Given the description of an element on the screen output the (x, y) to click on. 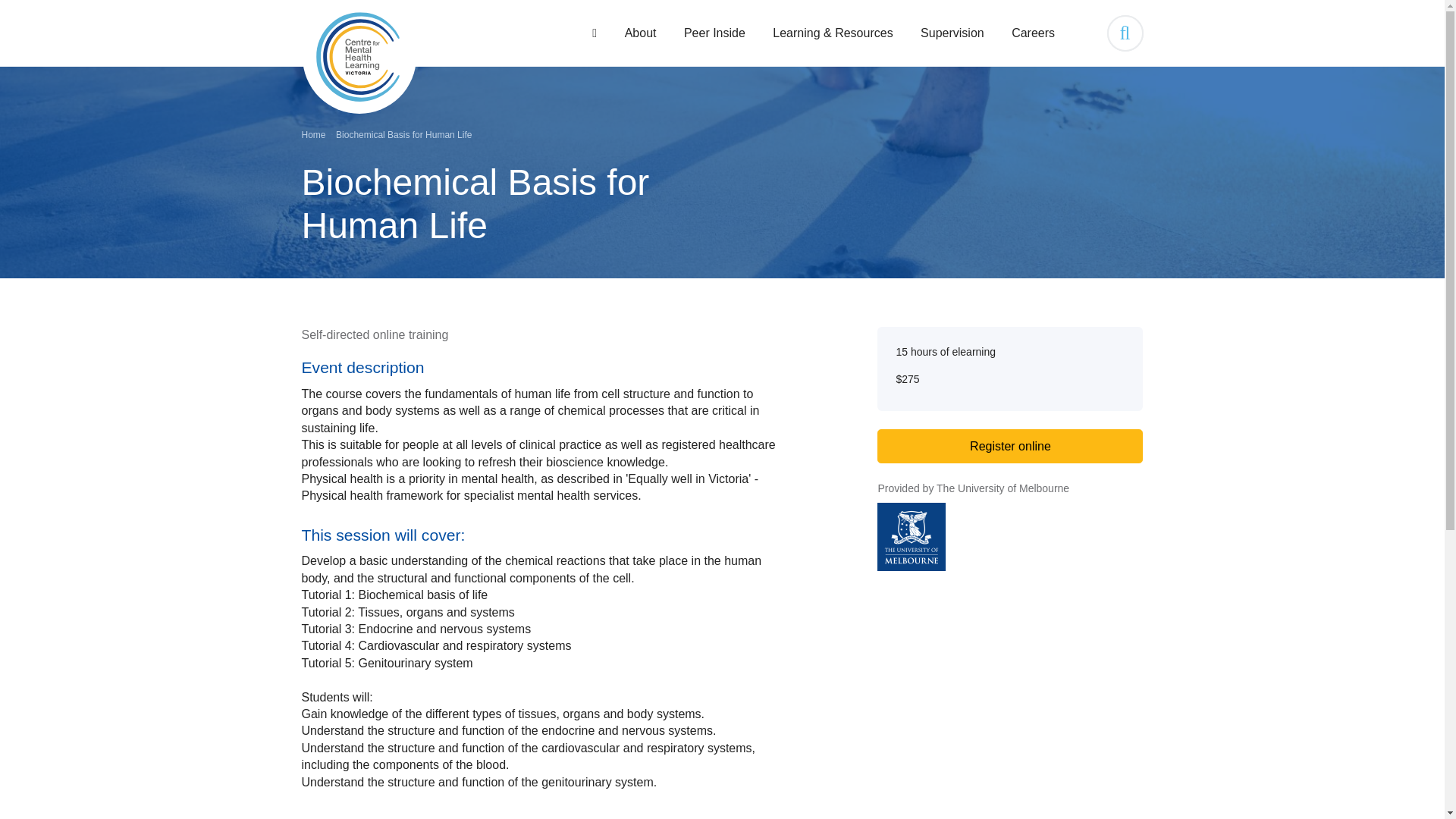
Home (357, 56)
Link to  website (1009, 536)
